Given the description of an element on the screen output the (x, y) to click on. 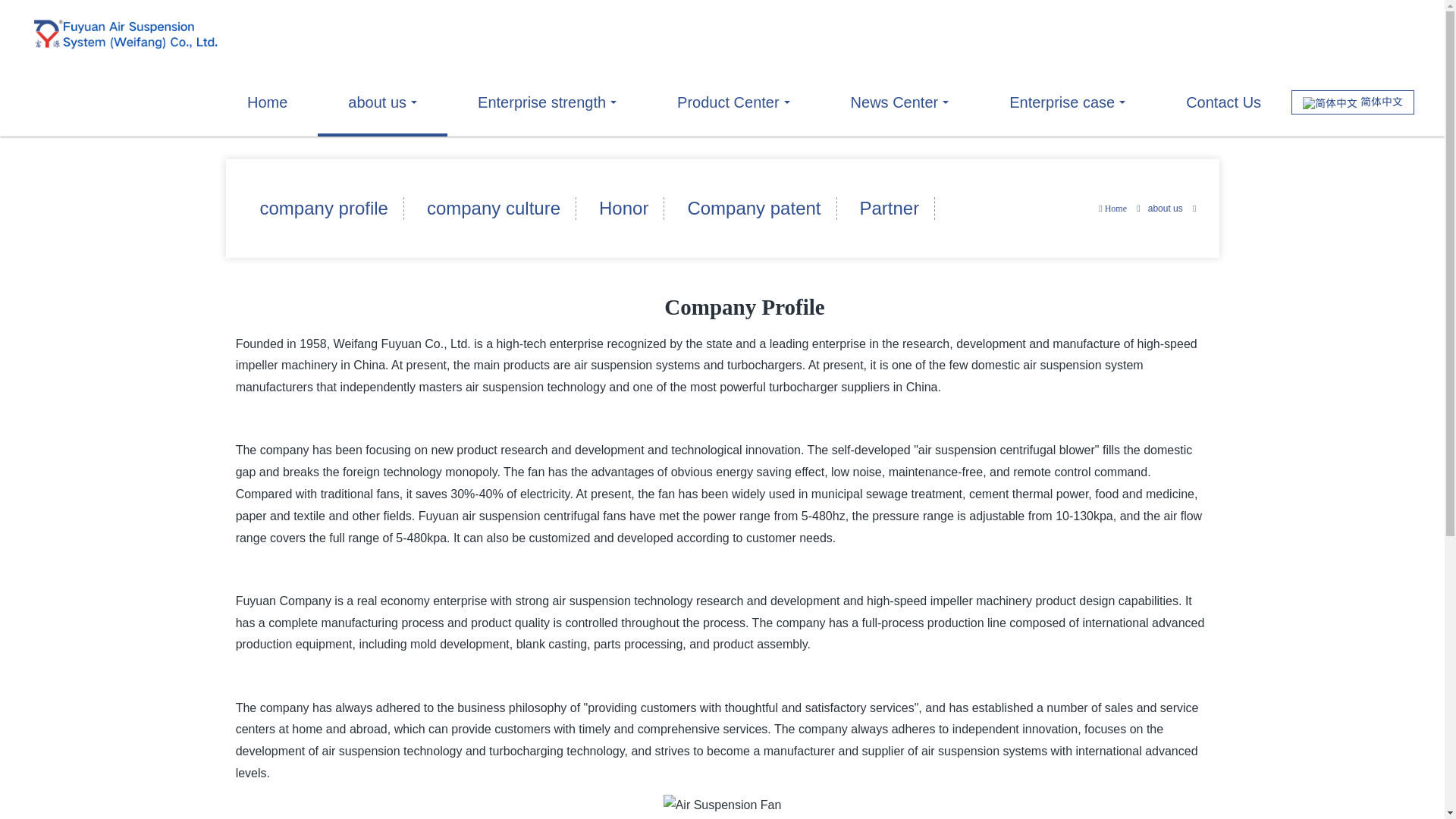
company profile (323, 208)
Contact Us (1223, 101)
Product Center (733, 101)
Enterprise case (1067, 101)
Enterprise strength (546, 101)
News Center (900, 101)
about us (381, 101)
Product Center (733, 101)
Partner (890, 208)
company culture (494, 208)
Home (266, 101)
Enterprise strength (546, 101)
about us (381, 101)
Home (1112, 208)
News Center (900, 101)
